Given the description of an element on the screen output the (x, y) to click on. 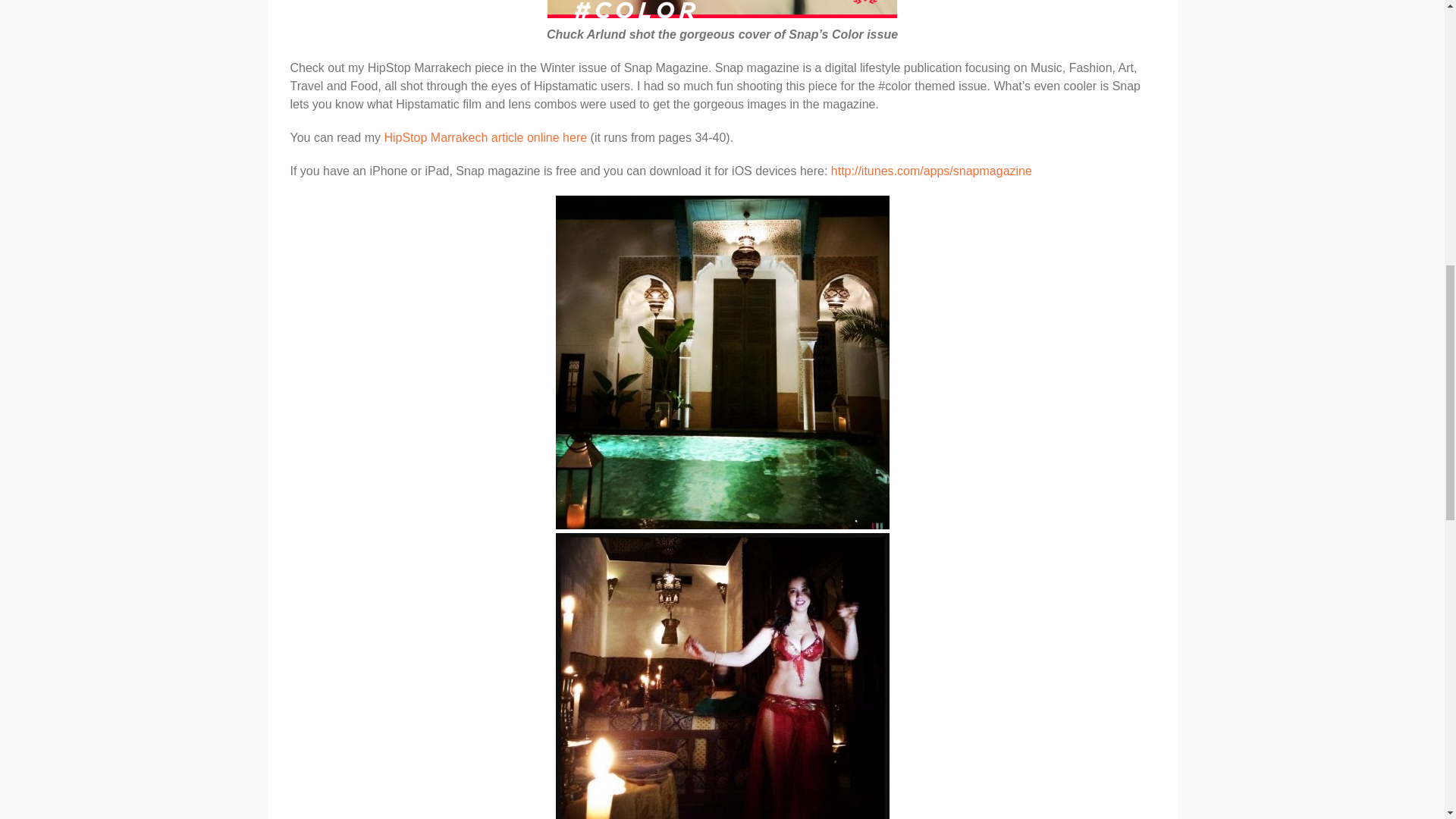
HipStop Marrakech article online here (485, 137)
